Given the description of an element on the screen output the (x, y) to click on. 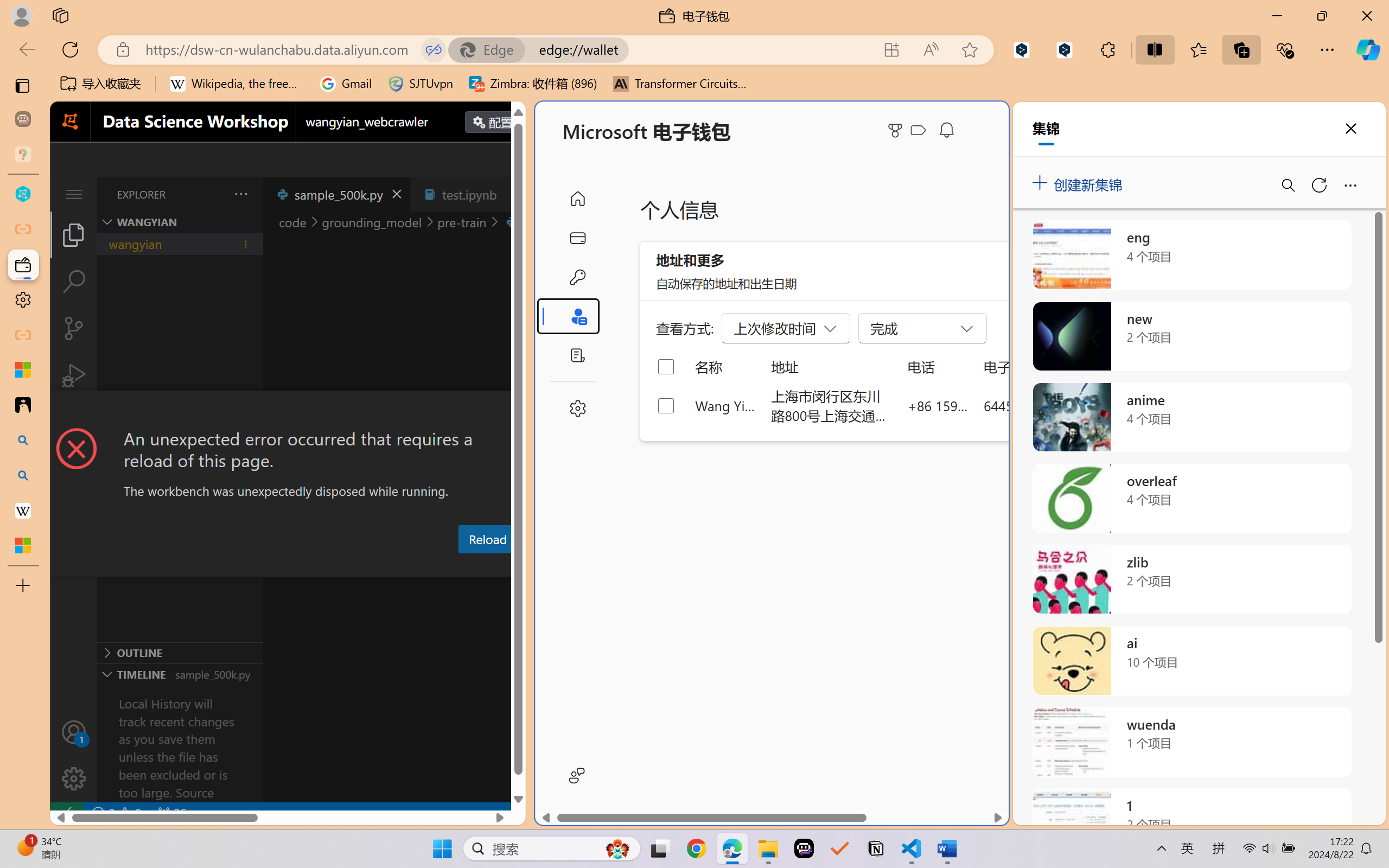
No Problems (115, 812)
Extensions (Ctrl+Shift+X) (73, 422)
Problems (Ctrl+Shift+M) (308, 565)
Microsoft security help and learning (22, 369)
Microsoft Rewards (896, 129)
test.ipynb (468, 194)
Debug Console (Ctrl+Shift+Y) (463, 565)
